Given the description of an element on the screen output the (x, y) to click on. 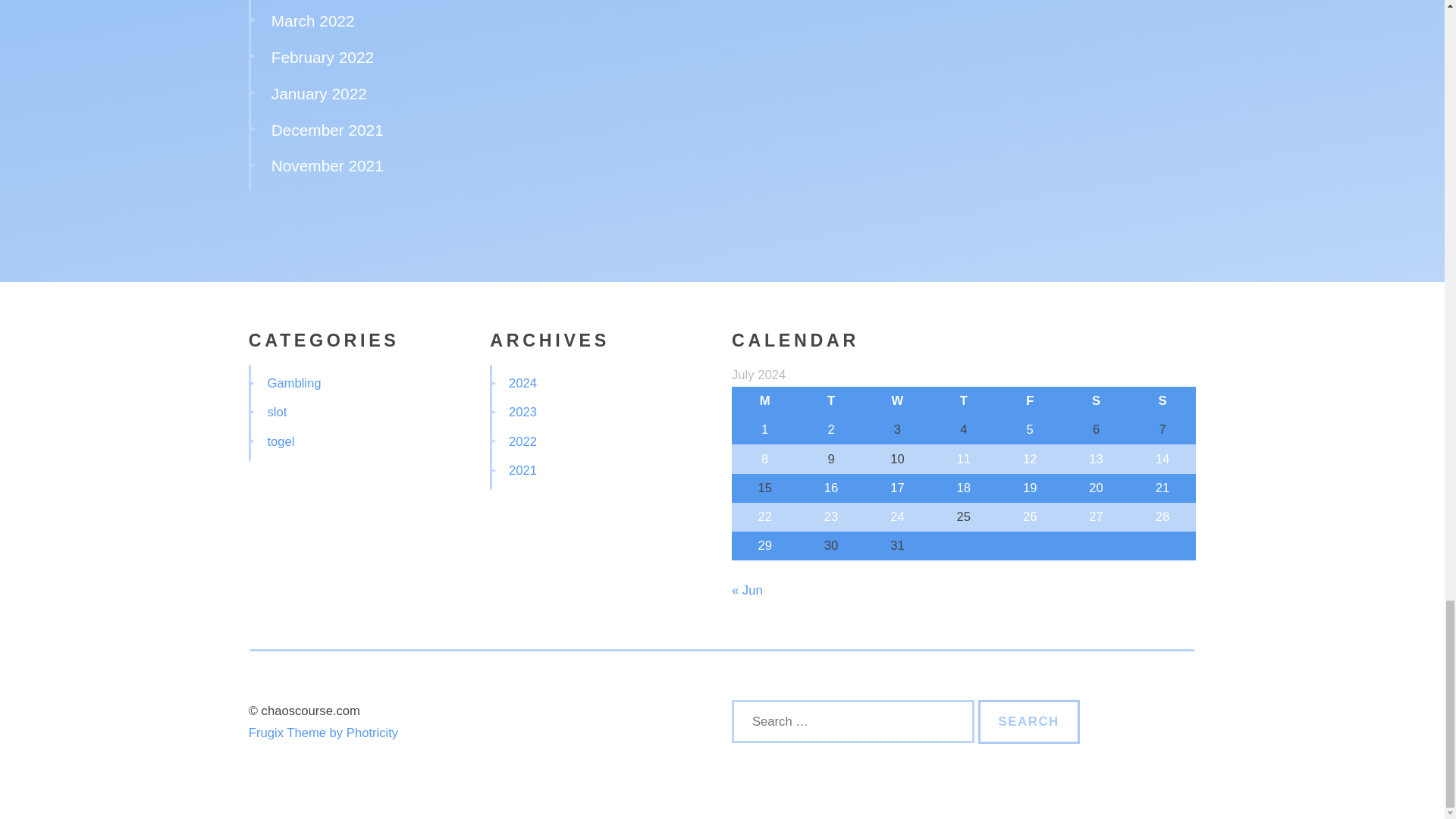
Thursday (962, 400)
Saturday (1095, 400)
Sunday (1162, 400)
Friday (1029, 400)
Monday (764, 400)
Search (1029, 721)
Tuesday (830, 400)
Wednesday (897, 400)
Search (1029, 721)
